Given the description of an element on the screen output the (x, y) to click on. 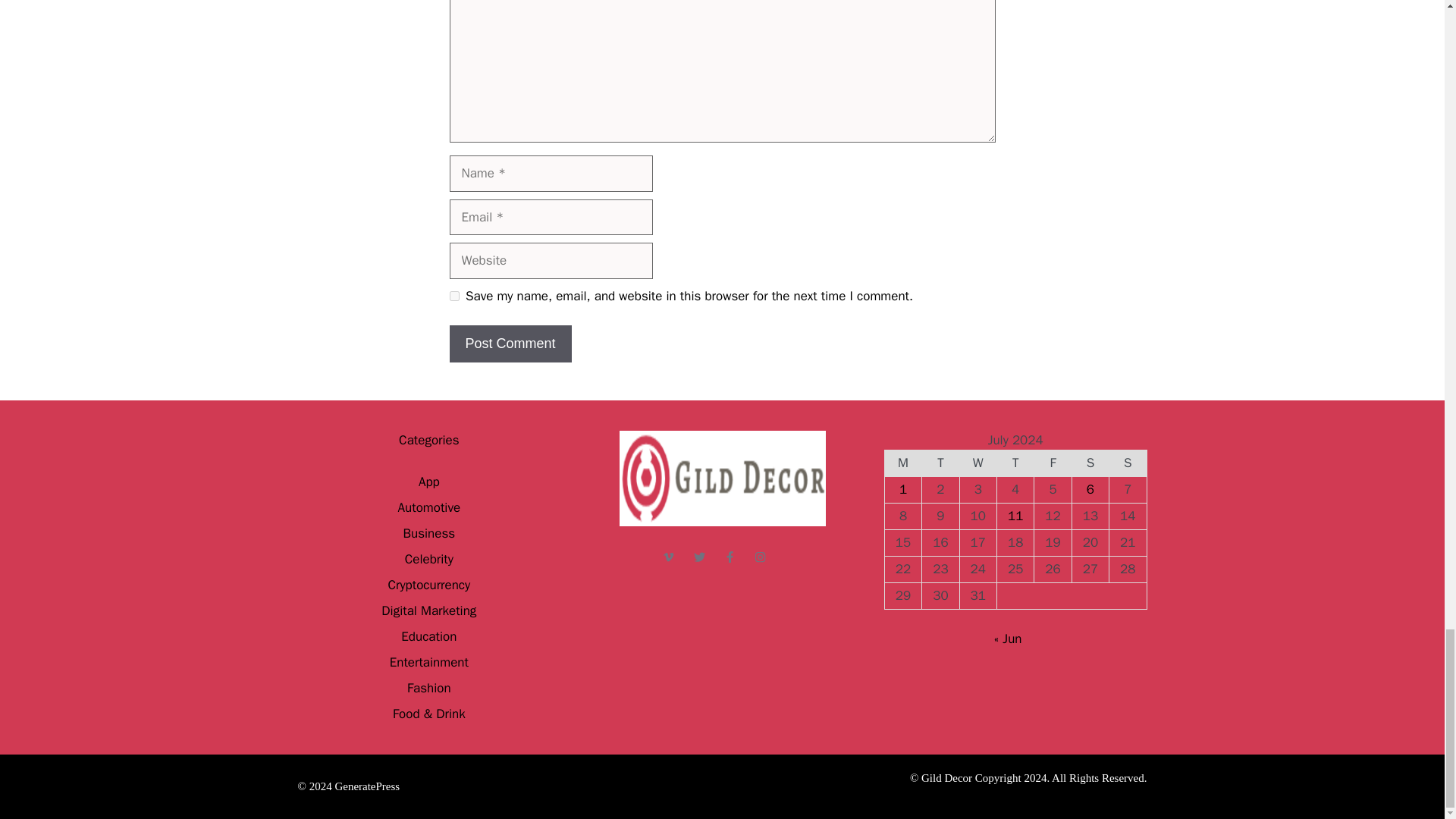
yes (453, 296)
Friday (1052, 463)
Sunday (1128, 463)
Post Comment (509, 343)
Tuesday (940, 463)
Saturday (1089, 463)
Wednesday (977, 463)
Thursday (1014, 463)
Monday (902, 463)
